Given the description of an element on the screen output the (x, y) to click on. 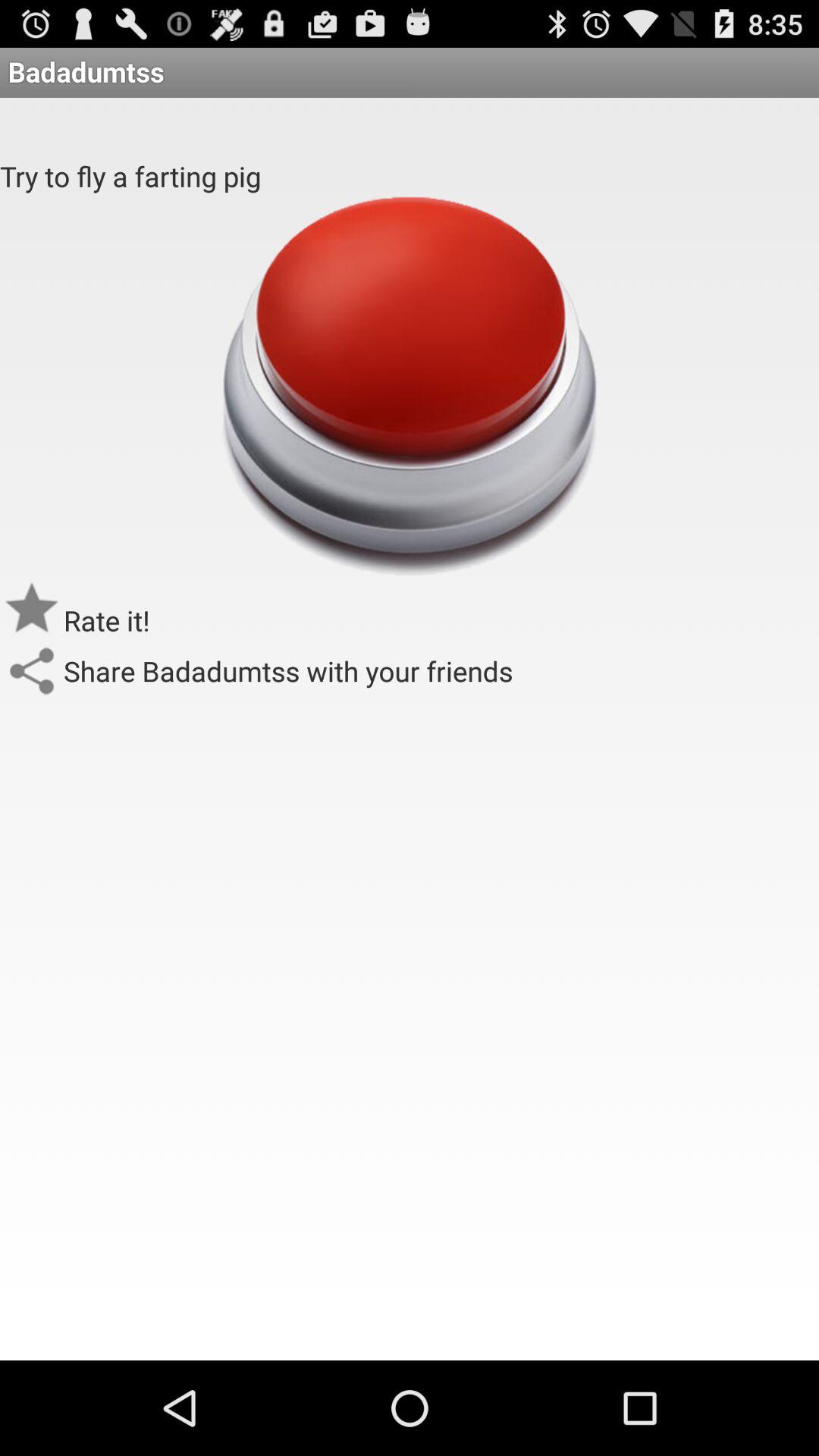
turn on the app below try to fly item (106, 620)
